Given the description of an element on the screen output the (x, y) to click on. 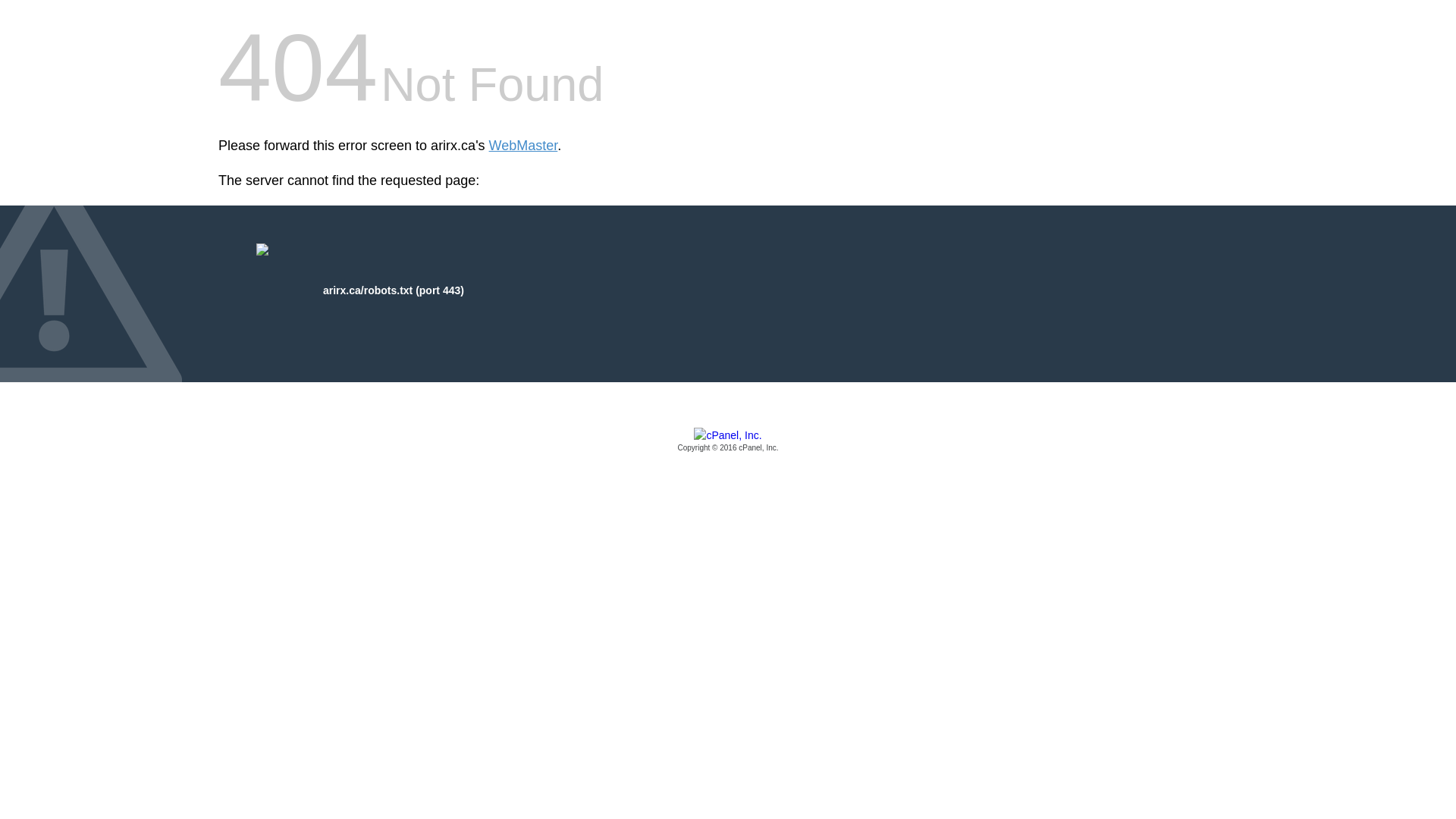
WebMaster Element type: text (523, 145)
